Given the description of an element on the screen output the (x, y) to click on. 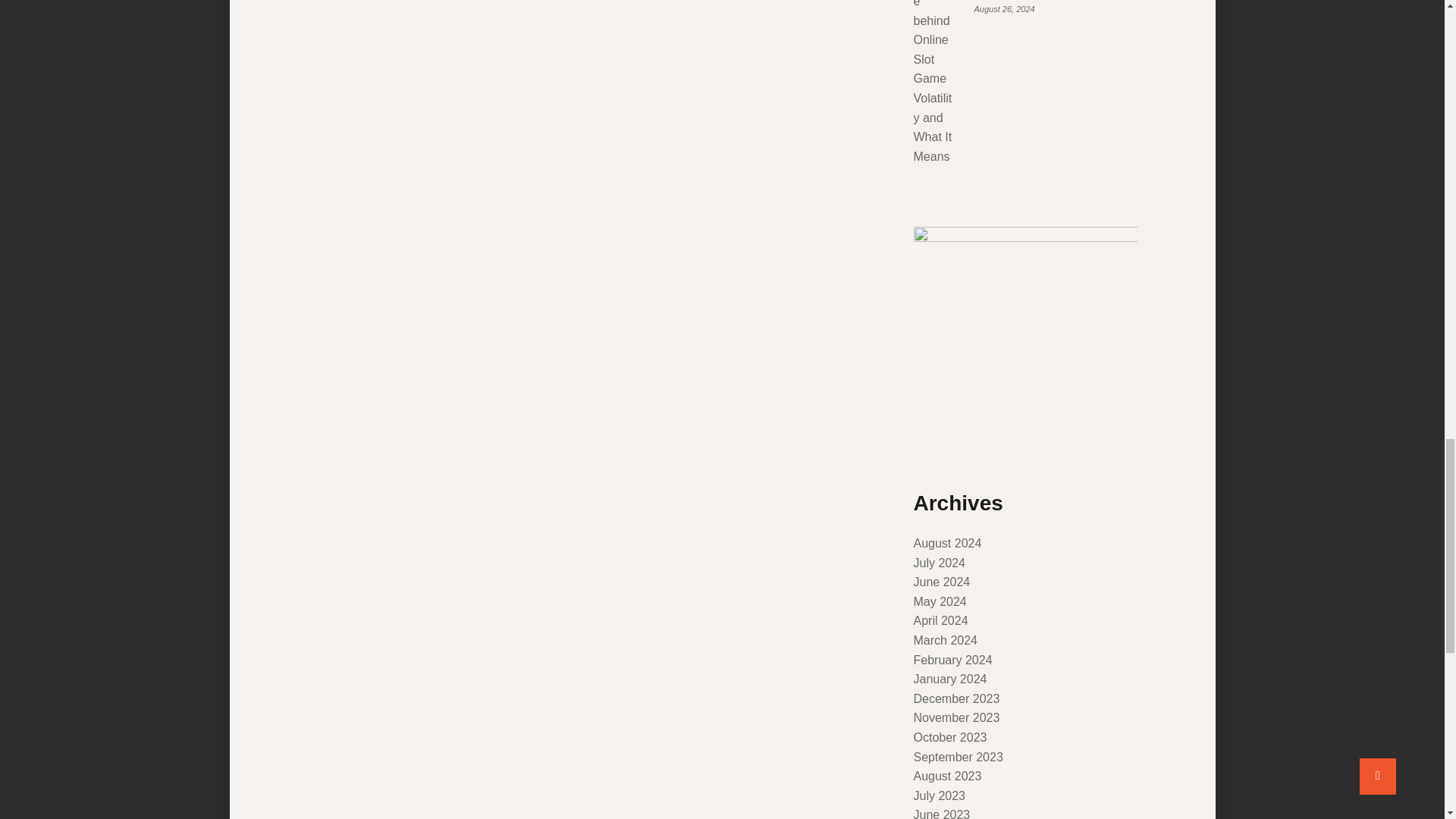
August 2024 (946, 543)
July 2024 (938, 562)
December 2023 (955, 698)
February 2024 (951, 659)
June 2024 (940, 581)
March 2024 (944, 640)
May 2024 (939, 601)
November 2023 (955, 717)
January 2024 (949, 678)
April 2024 (940, 620)
